Given the description of an element on the screen output the (x, y) to click on. 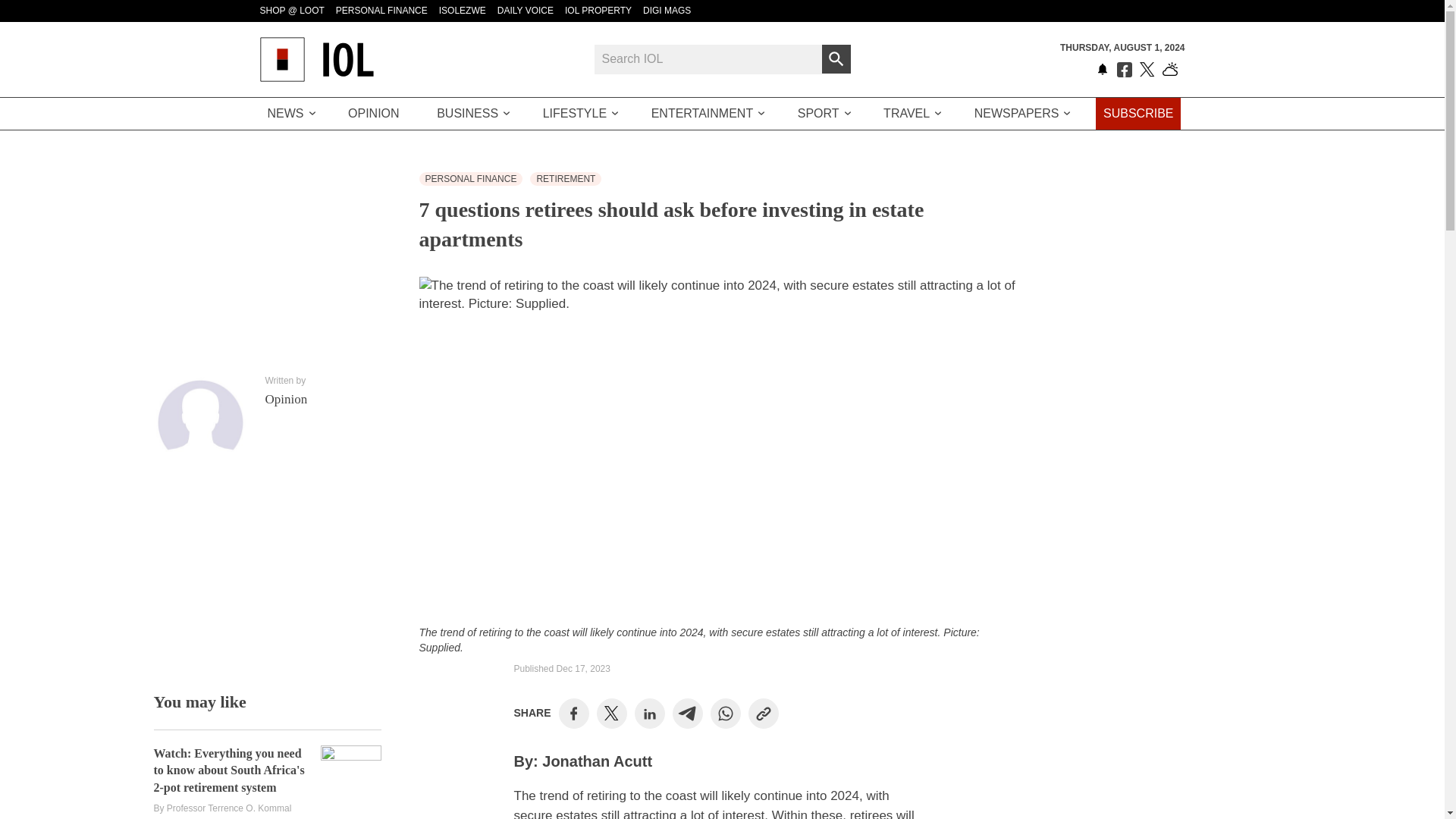
Share on WhatsApp (725, 713)
Share on LinkedIn (648, 713)
Share on Facebook (573, 713)
Copy to Clipboard (763, 713)
Follow us on Twitter (1147, 69)
Share on Twitter (611, 713)
Share on Telegram (686, 713)
Like us on Facebook (1124, 69)
